Given the description of an element on the screen output the (x, y) to click on. 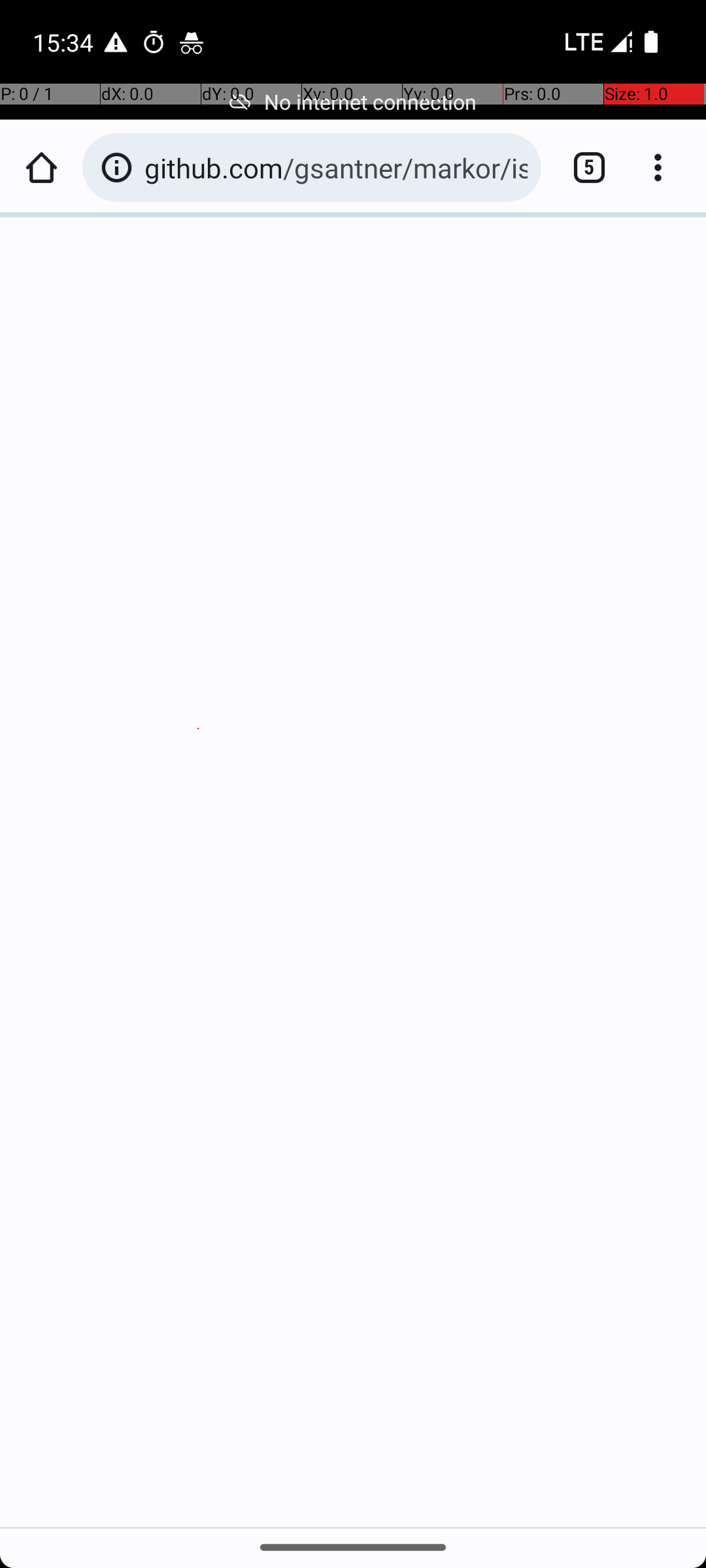
github.com/gsantner/markor/issues/new/choose Element type: android.widget.EditText (335, 167)
